Given the description of an element on the screen output the (x, y) to click on. 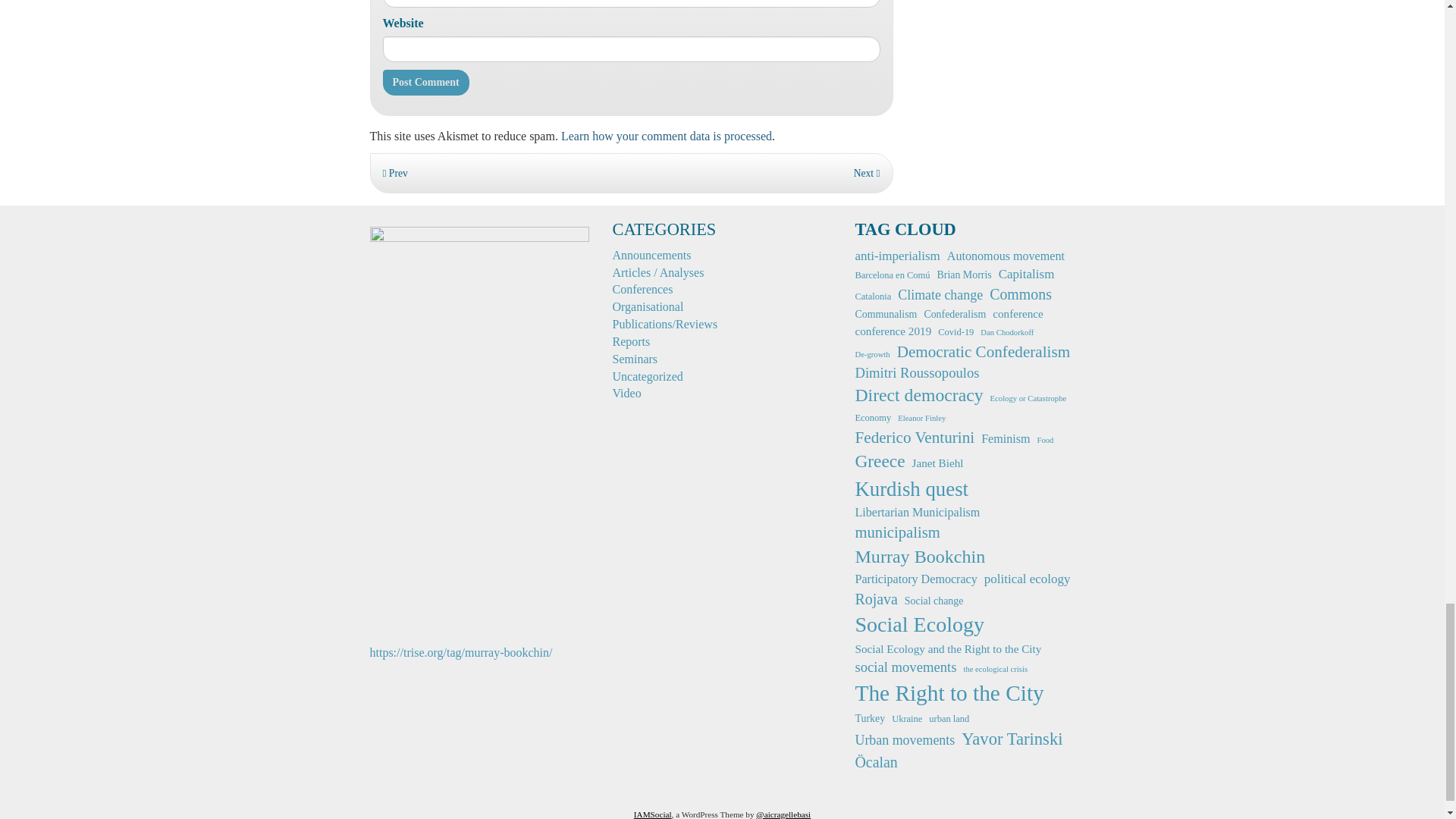
Post Comment (424, 82)
Prev (394, 173)
Post Comment (424, 82)
Learn how your comment data is processed (665, 135)
Next (866, 173)
